Given the description of an element on the screen output the (x, y) to click on. 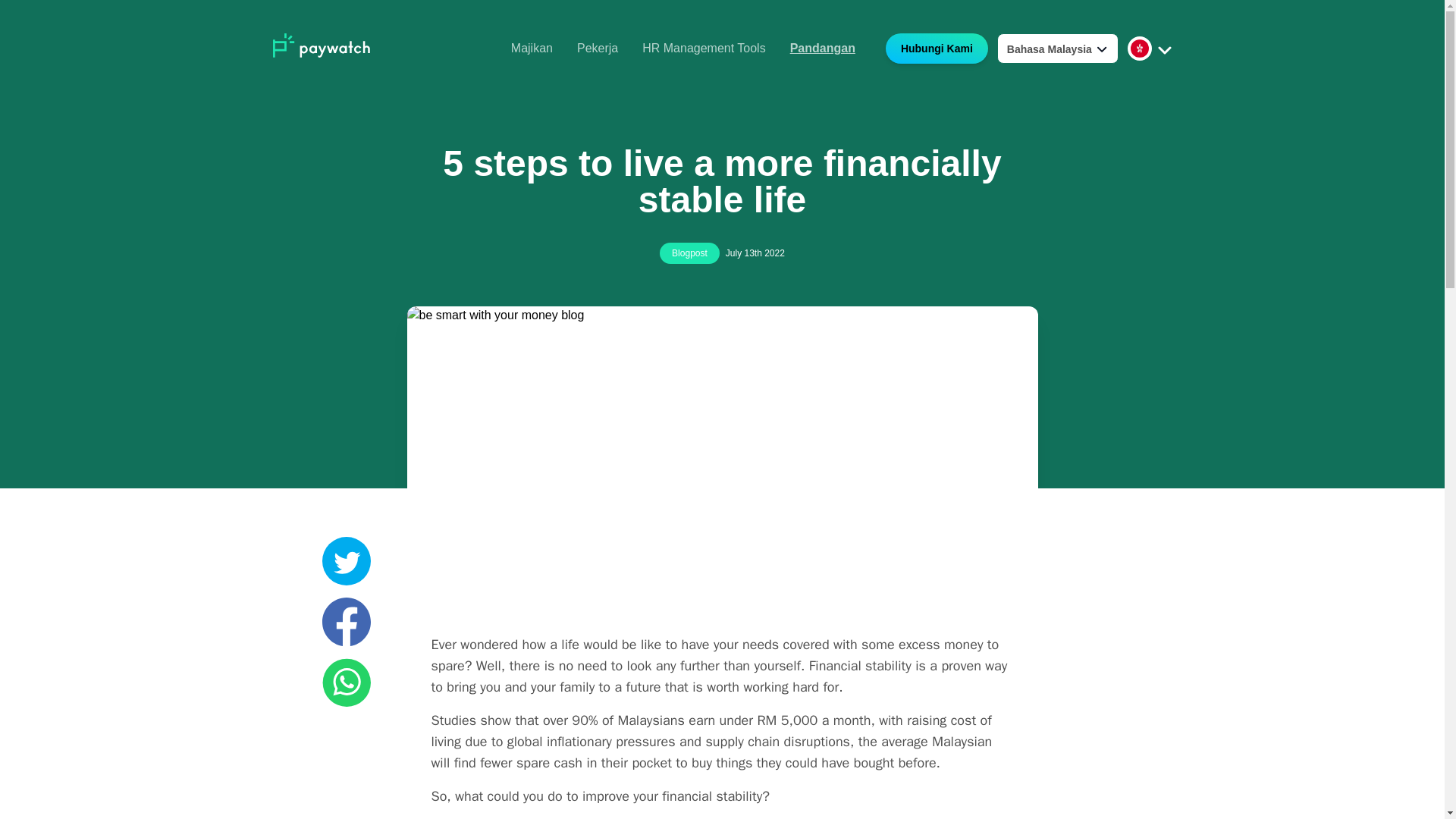
Pekerja (596, 47)
Pandangan (823, 47)
Hubungi Kami (932, 49)
Majikan (532, 47)
HR Management Tools (703, 47)
